Given the description of an element on the screen output the (x, y) to click on. 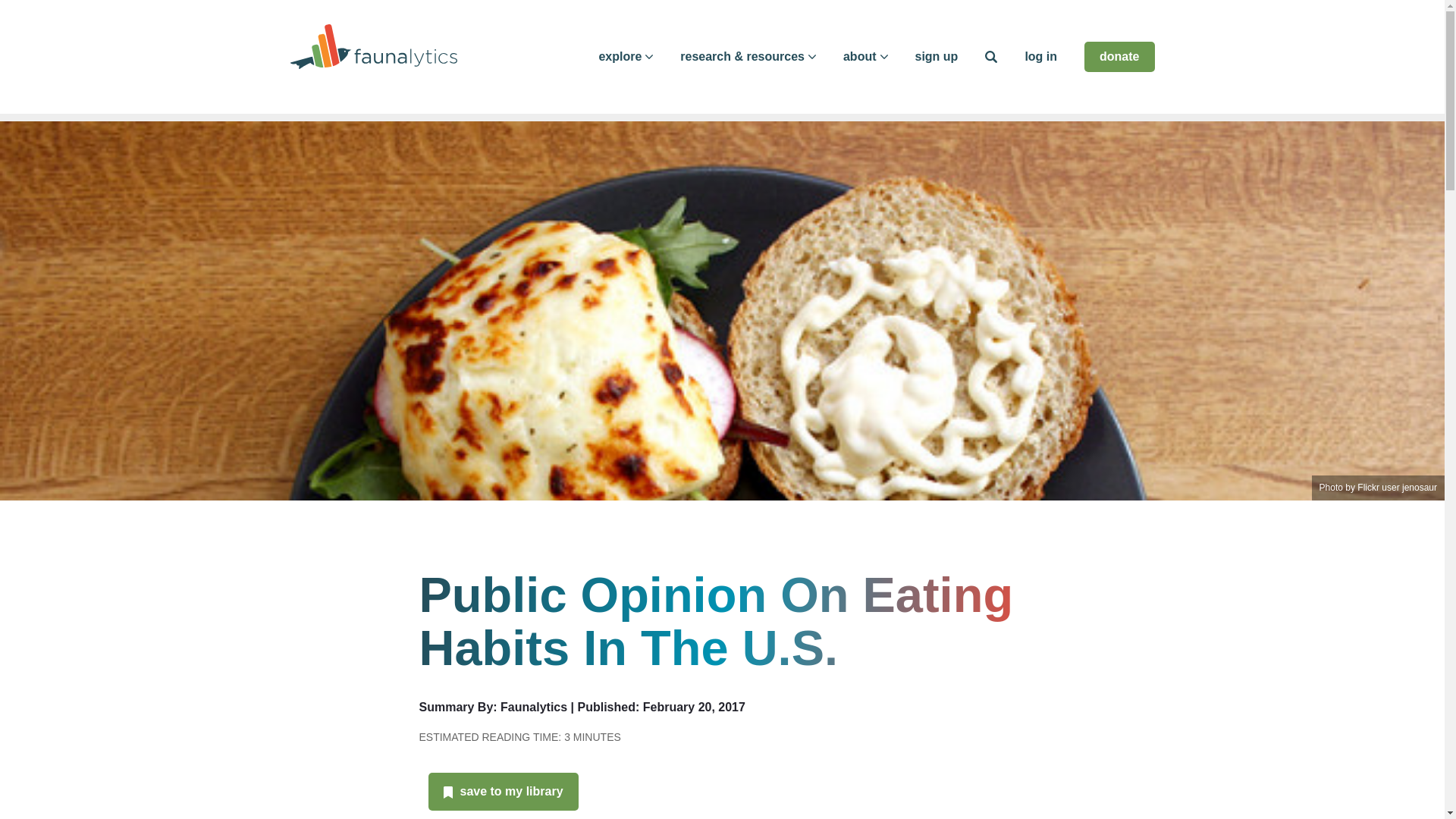
sign up (936, 56)
Save to My Library (511, 790)
donate (1119, 56)
log in (1041, 56)
Posts by Faunalytics (533, 707)
